Given the description of an element on the screen output the (x, y) to click on. 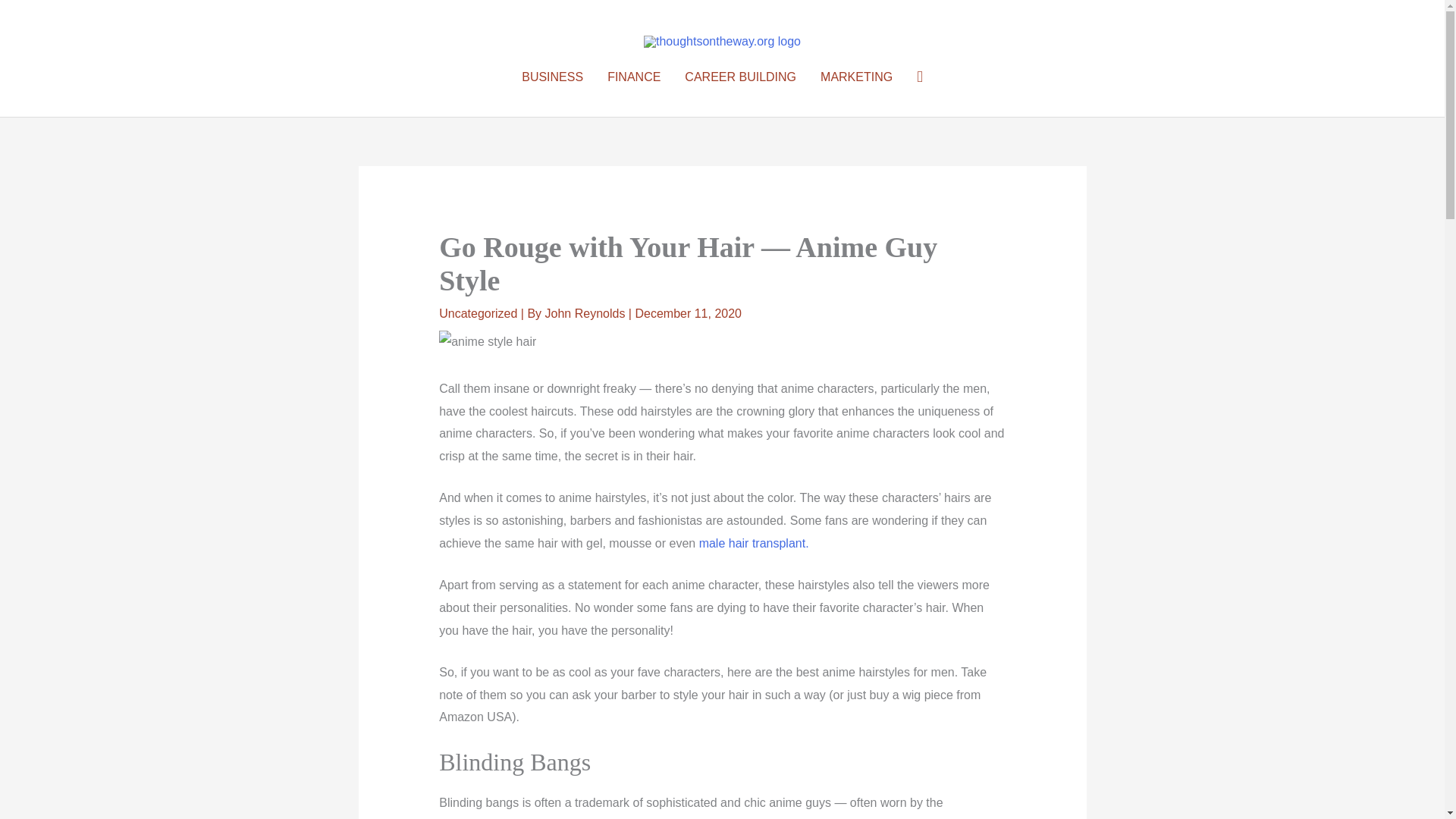
View all posts by John Reynolds (586, 313)
MARKETING (856, 77)
FINANCE (633, 77)
John Reynolds (586, 313)
male hair transplant. (753, 543)
BUSINESS (552, 77)
Uncategorized (477, 313)
CAREER BUILDING (740, 77)
